Given the description of an element on the screen output the (x, y) to click on. 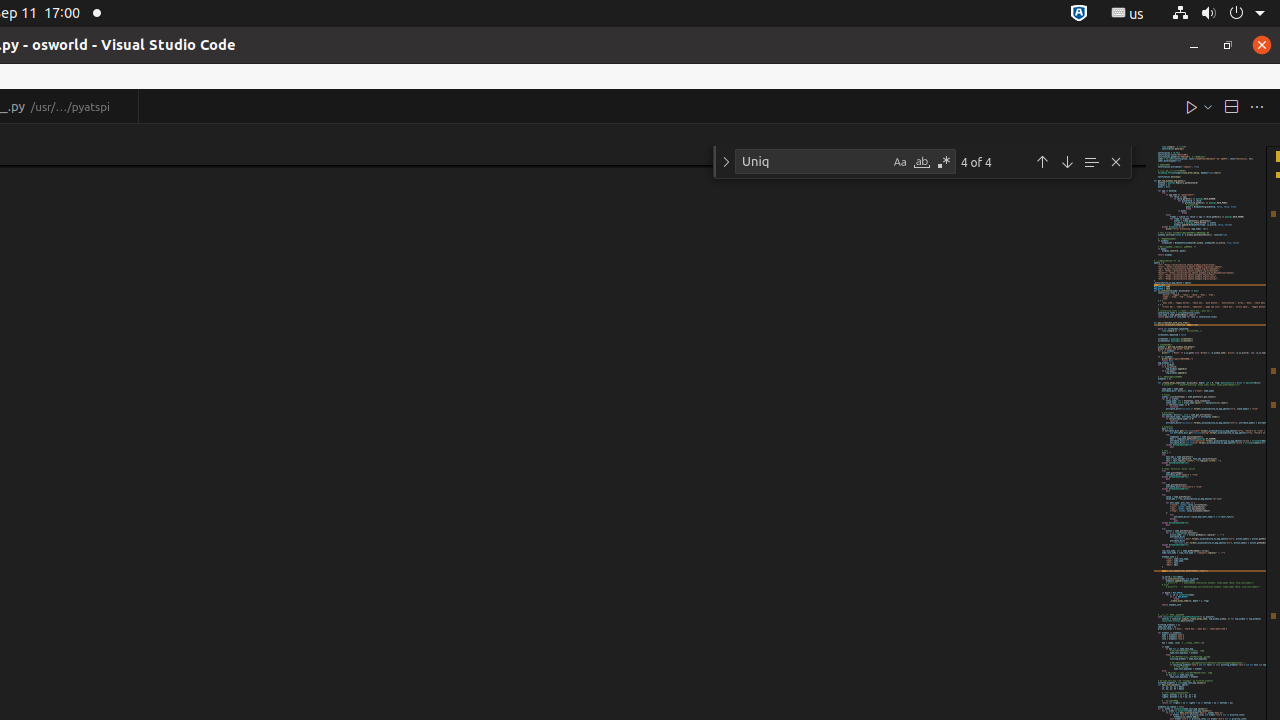
Split Editor Right (Ctrl+\) [Alt] Split Editor Down Element type: push-button (1231, 106)
Run or Debug... Element type: push-button (1208, 106)
More Actions... Element type: push-button (1257, 106)
Next Match (Enter) Element type: push-button (1067, 161)
